Given the description of an element on the screen output the (x, y) to click on. 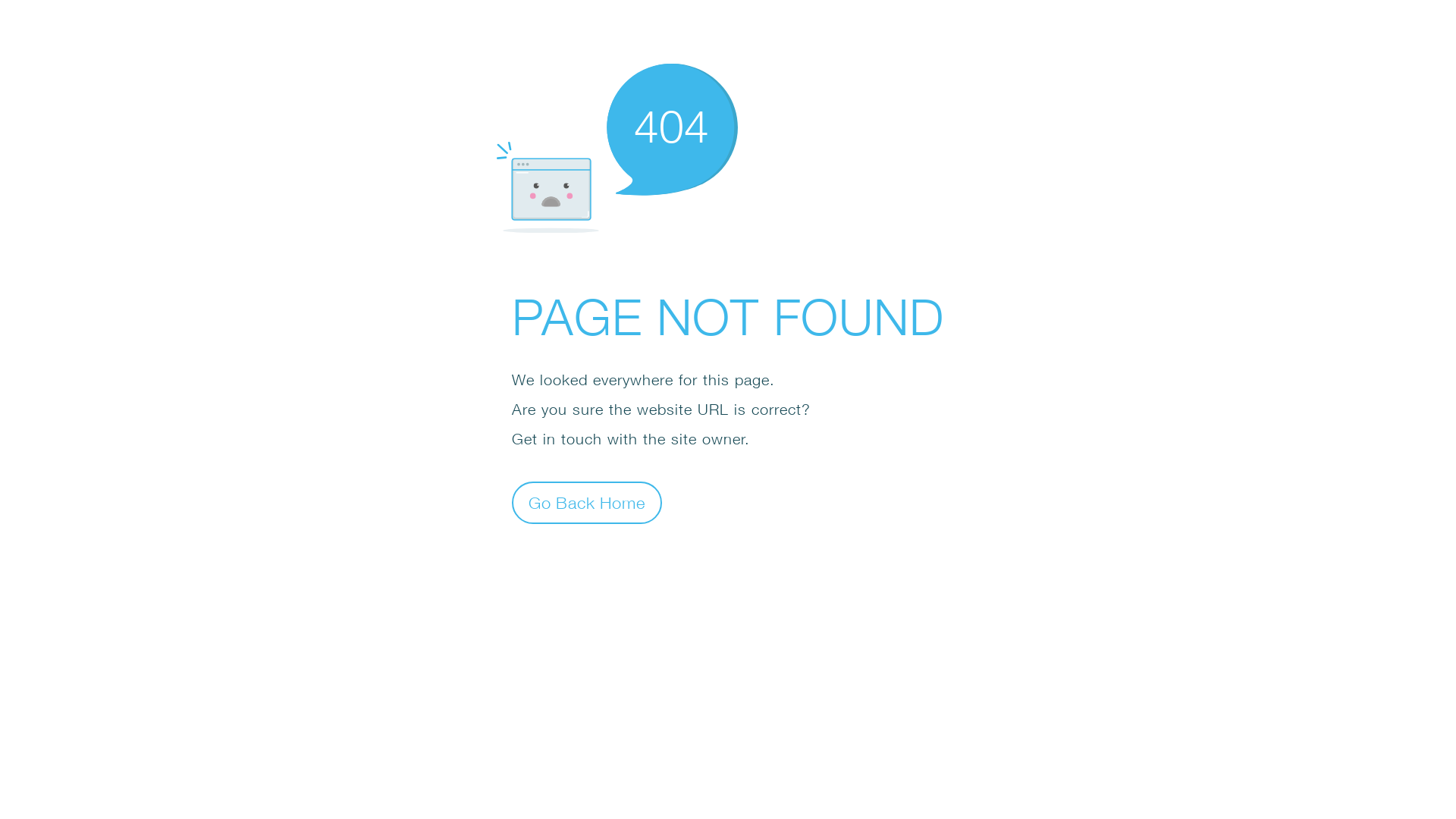
Go Back Home Element type: text (586, 502)
